Given the description of an element on the screen output the (x, y) to click on. 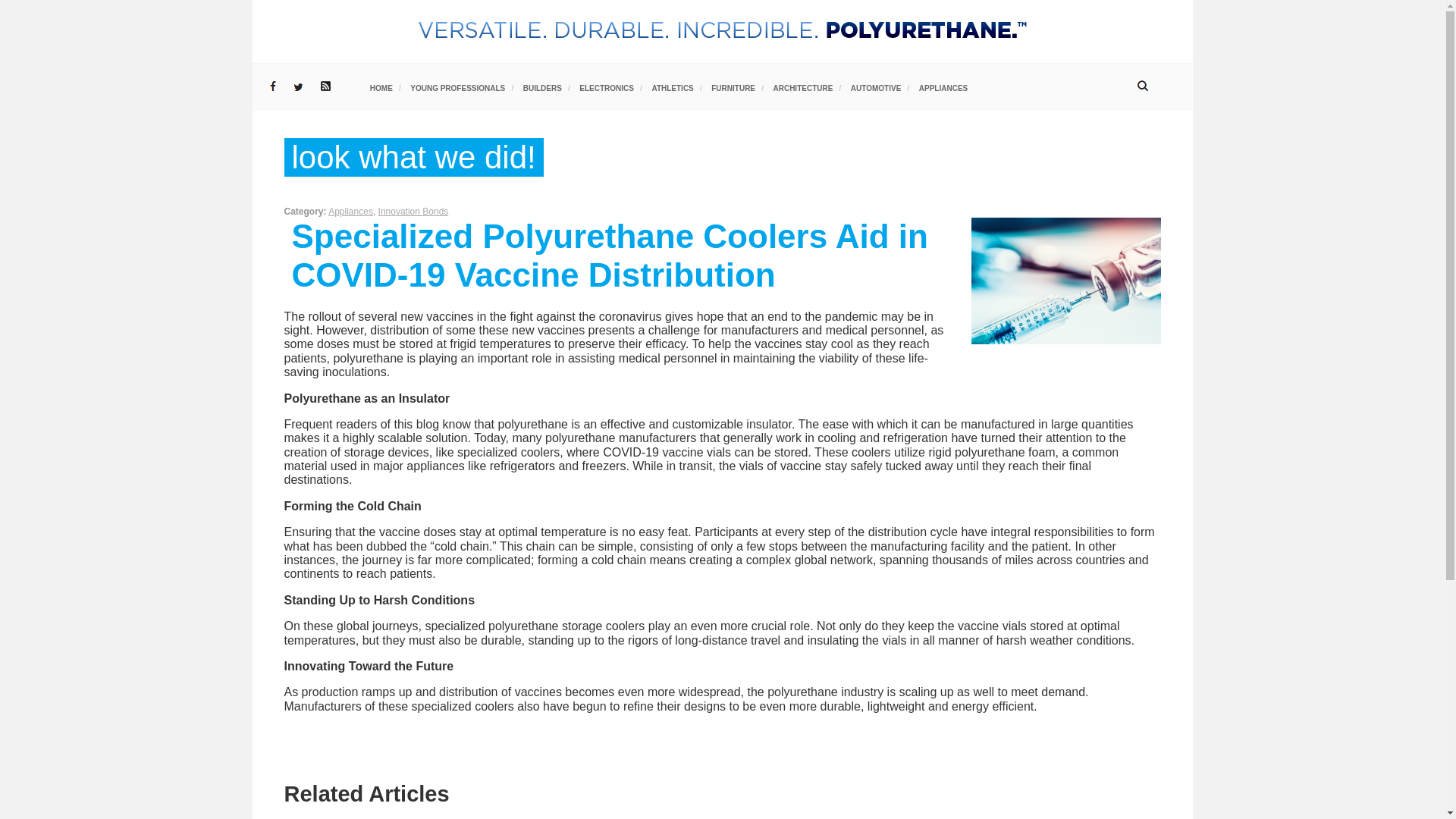
YOUNG PROFESSIONALS (457, 88)
ATHLETICS (671, 88)
FURNITURE (733, 88)
Appliances (350, 211)
HOME (381, 88)
Innovation Bonds (413, 211)
AUTOMOTIVE (875, 88)
look what we did! (413, 157)
APPLIANCES (943, 88)
ARCHITECTURE (802, 88)
BUILDERS (542, 88)
ELECTRONICS (606, 88)
